Given the description of an element on the screen output the (x, y) to click on. 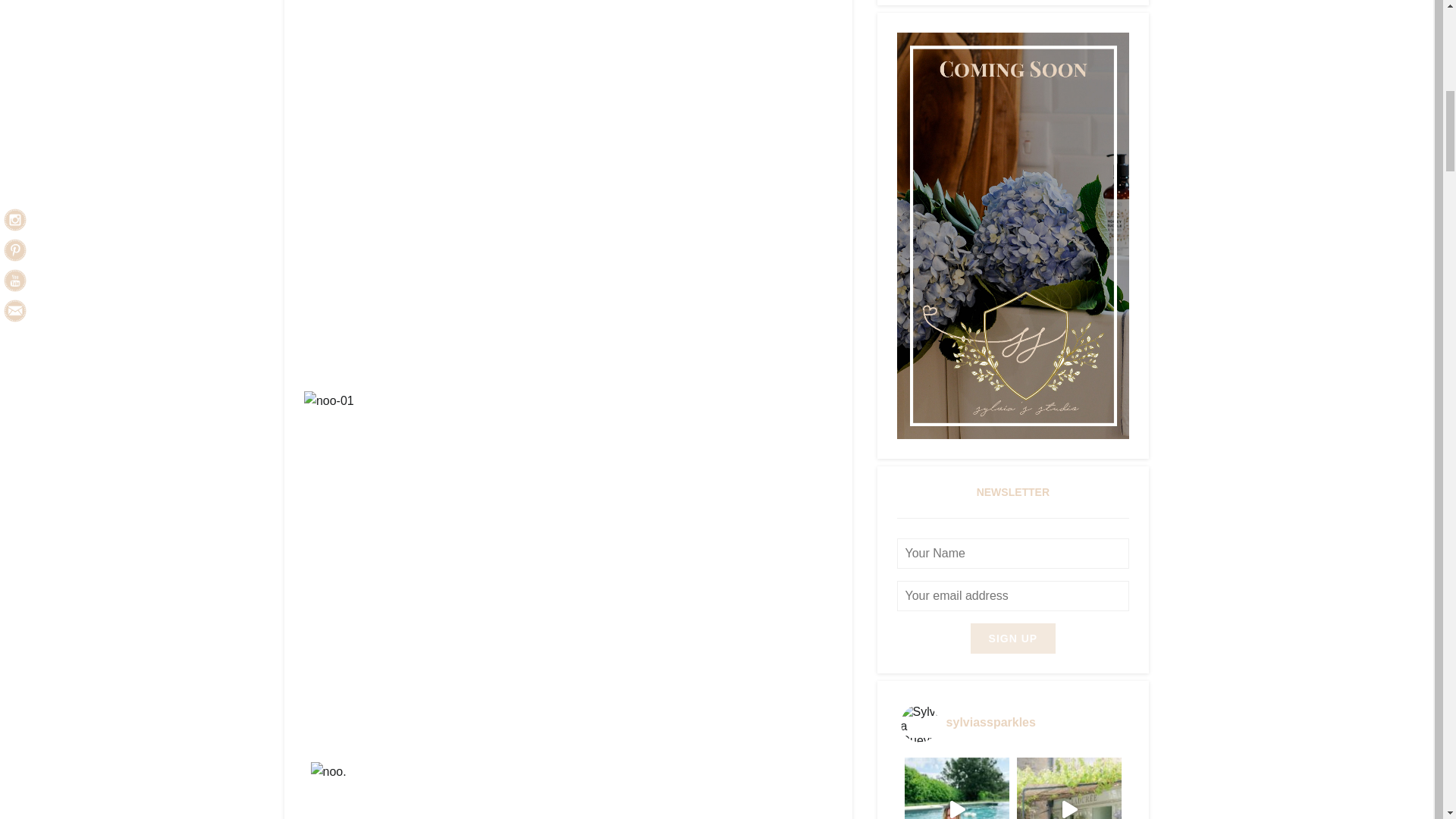
Sign up (1013, 638)
